Given the description of an element on the screen output the (x, y) to click on. 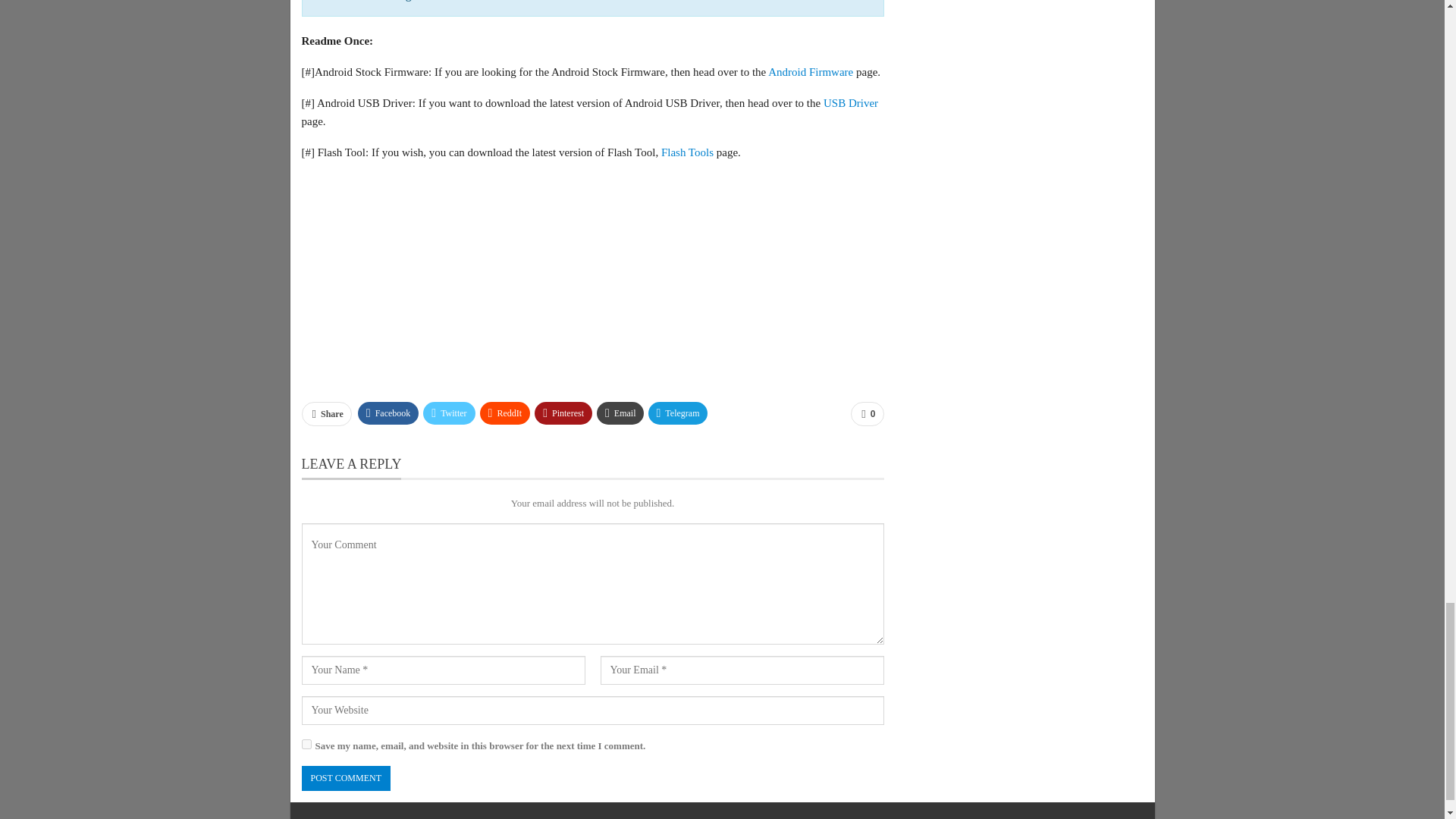
Email (620, 413)
yes (306, 744)
ReddIt (505, 413)
Post Comment (345, 778)
Twitter (448, 413)
Post Comment (345, 778)
Android Firmware (810, 71)
Telegram (677, 413)
Advertisement (592, 280)
USB Driver (850, 102)
Pinterest (563, 413)
Facebook (388, 413)
Flash Tools (687, 152)
0 (866, 413)
